Given the description of an element on the screen output the (x, y) to click on. 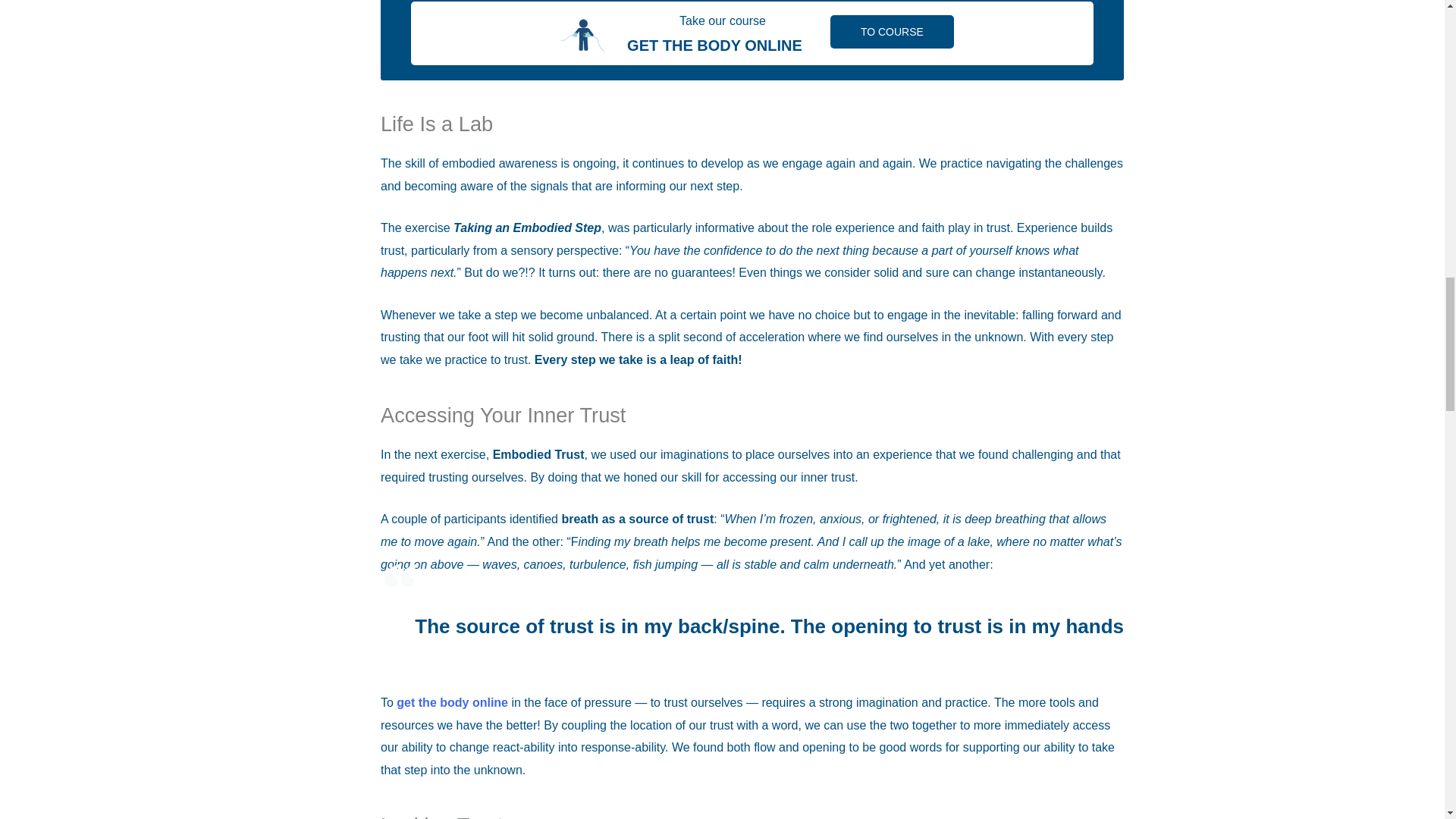
TO COURSE (891, 31)
get the body online (452, 702)
